Given the description of an element on the screen output the (x, y) to click on. 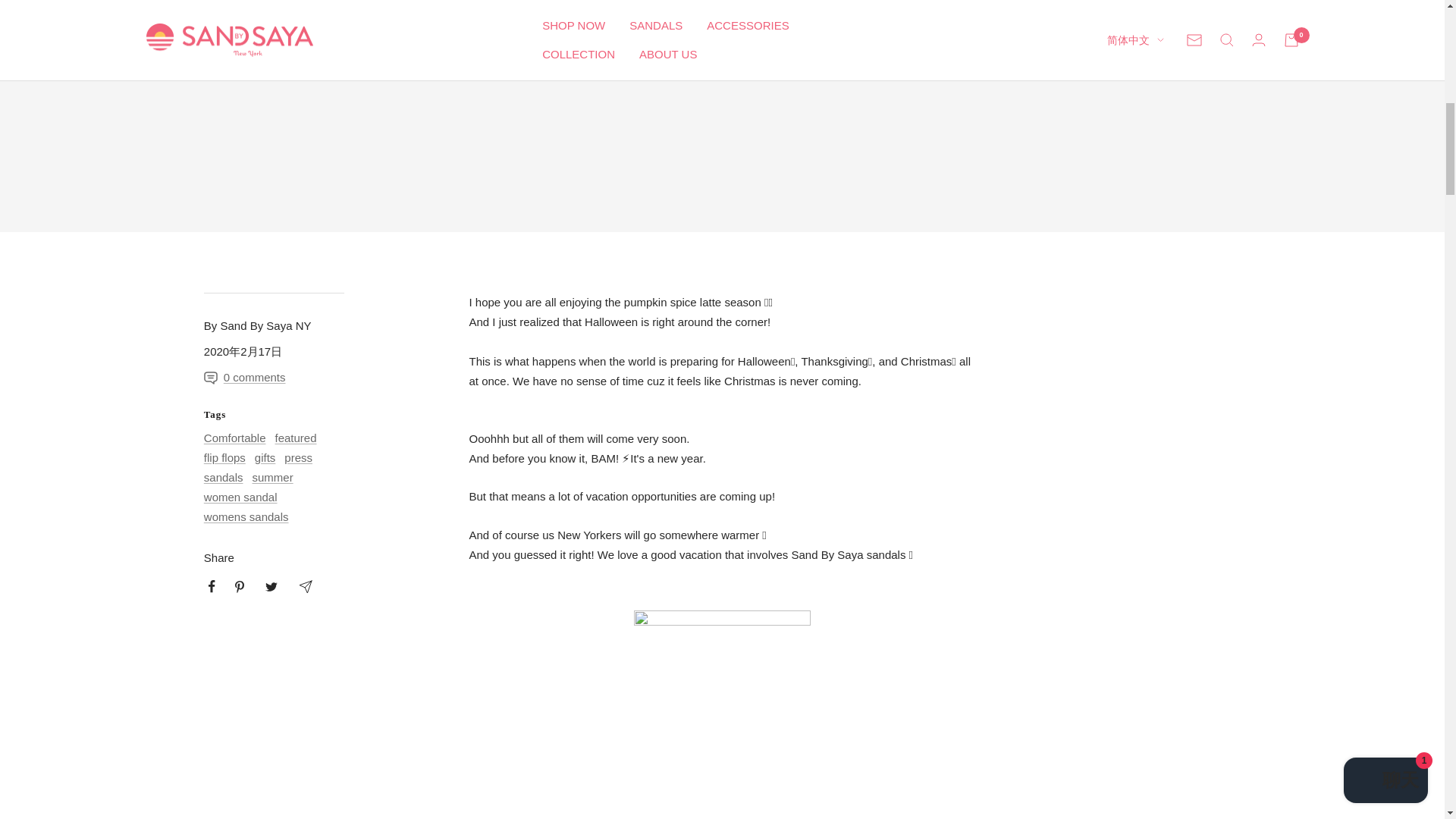
gifts (265, 457)
womens sandals (245, 516)
summer (271, 477)
press (298, 457)
featured (295, 437)
0 comments (257, 377)
women sandal (240, 496)
flip flops (224, 457)
Comfortable (234, 437)
sandals (223, 477)
